Given the description of an element on the screen output the (x, y) to click on. 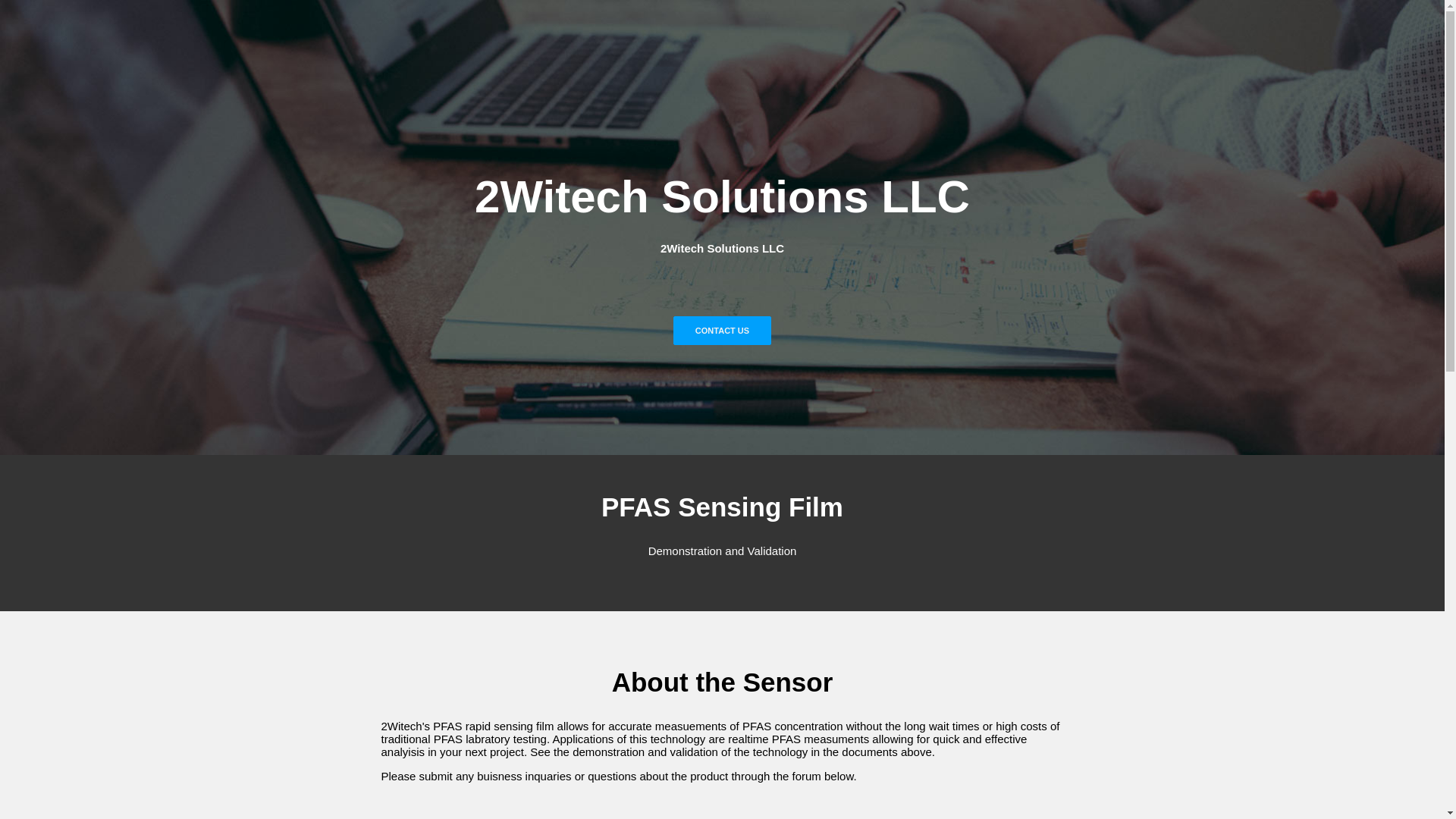
CONTACT US Element type: text (722, 330)
